Given the description of an element on the screen output the (x, y) to click on. 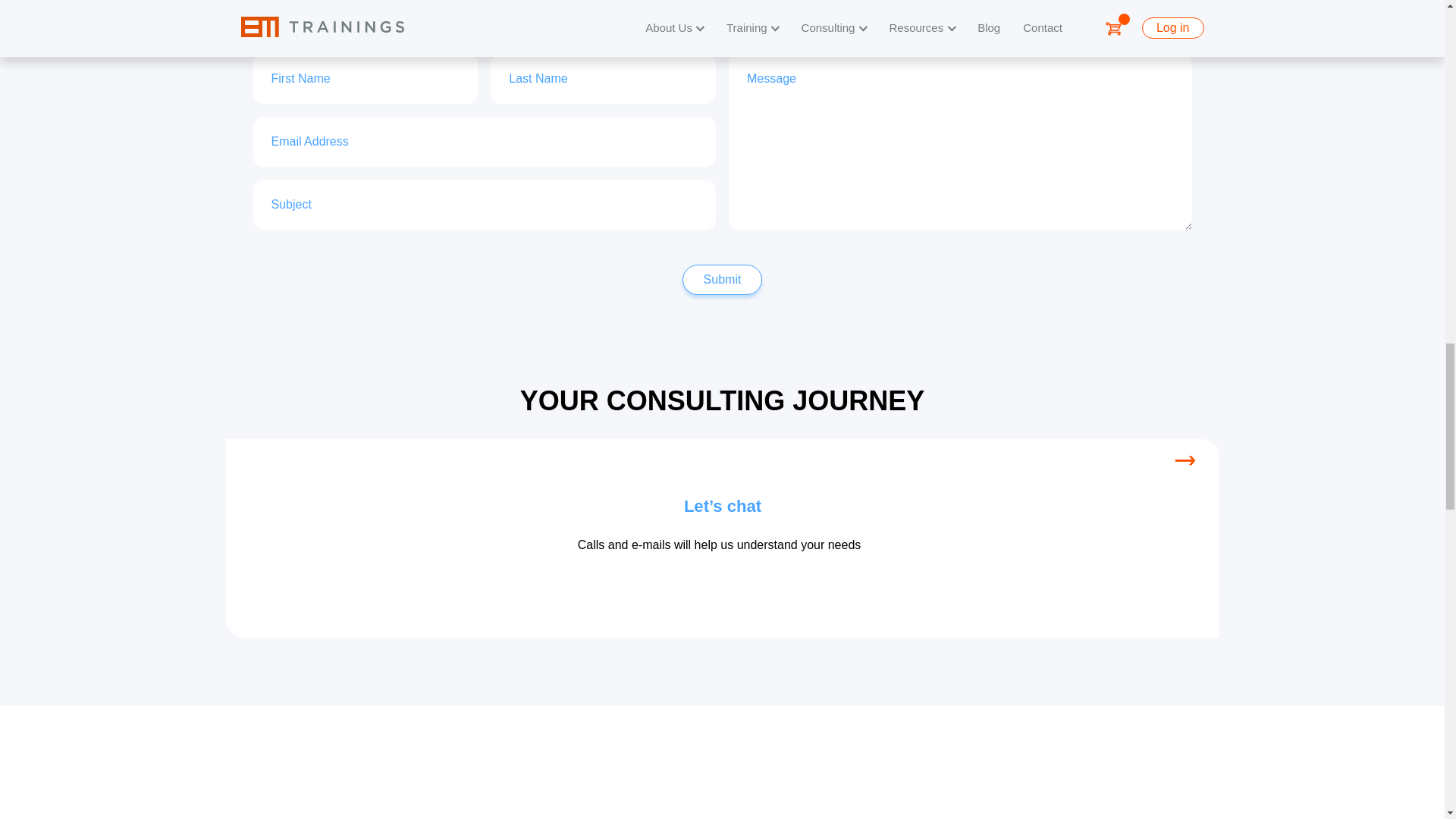
Submit (722, 279)
